Given the description of an element on the screen output the (x, y) to click on. 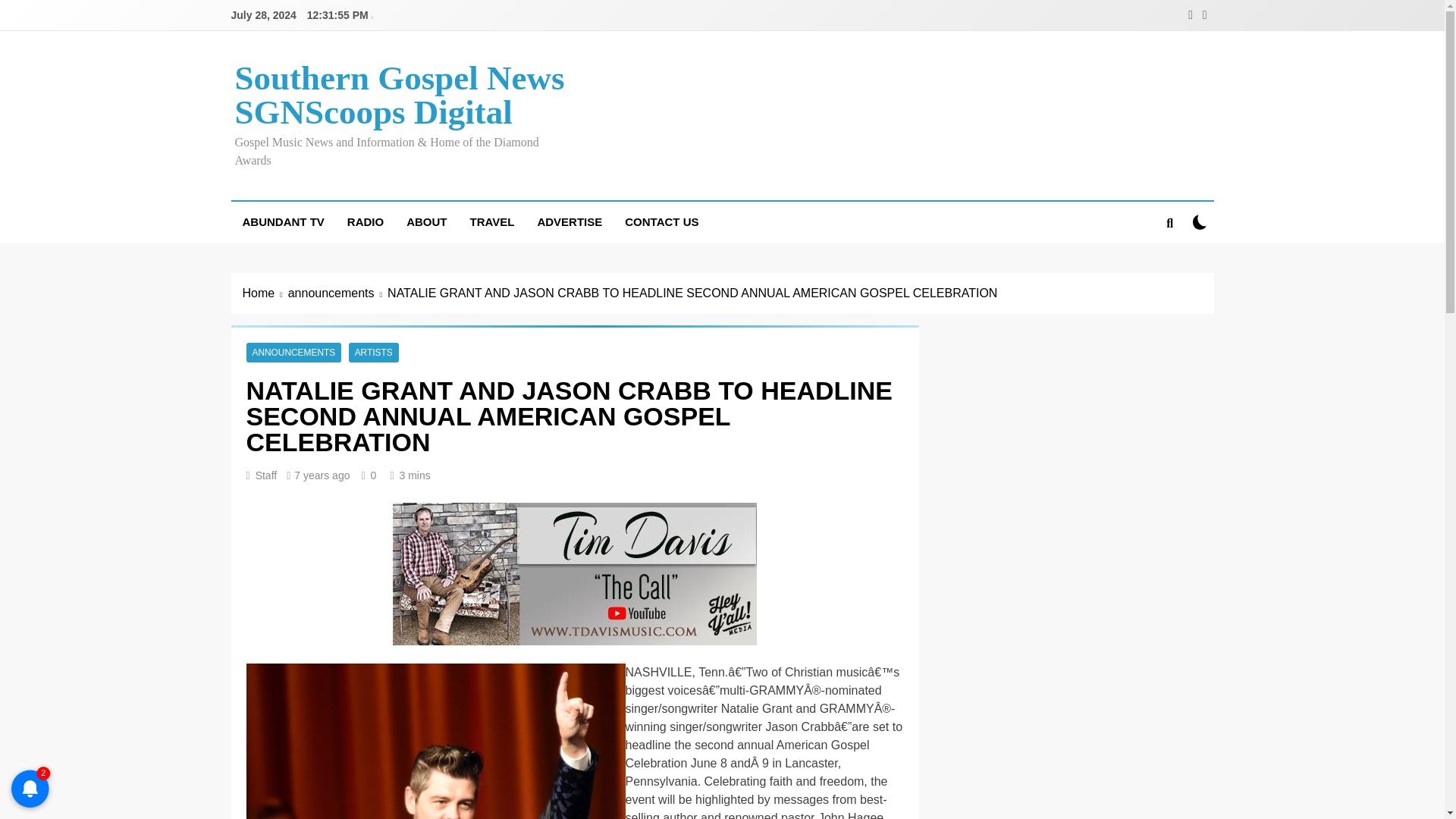
ABOUT (426, 221)
Home (265, 293)
announcements (337, 293)
RADIO (365, 221)
CONTACT US (661, 221)
ARTISTS (374, 352)
7 years ago (321, 475)
TRAVEL (491, 221)
ANNOUNCEMENTS (292, 352)
Southern Gospel News SGNScoops Digital (399, 94)
on (1199, 221)
ADVERTISE (568, 221)
ABUNDANT TV (282, 221)
Staff (267, 475)
